Given the description of an element on the screen output the (x, y) to click on. 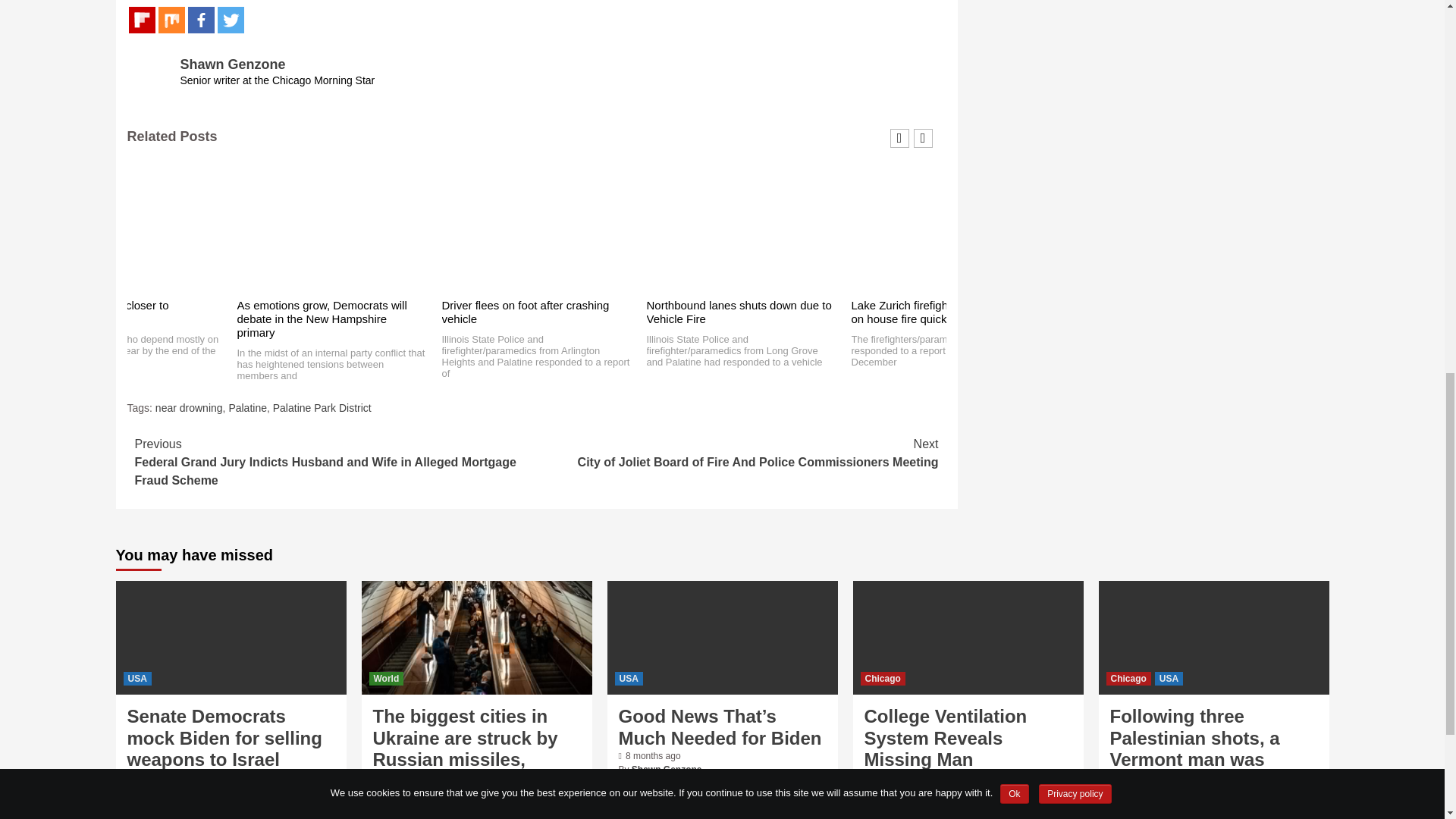
Flipboard (142, 19)
Driver flees on foot after crashing vehicle (524, 311)
Facebook (200, 19)
Mix (170, 19)
Twitter (229, 19)
Chicago is getting closer to eliminating tip pay (100, 311)
Lake Zurich firefighters take control on house fire quickly (938, 311)
Shawn Genzone (232, 64)
Northbound lanes shuts down due to Vehicle Fire (738, 311)
